Given the description of an element on the screen output the (x, y) to click on. 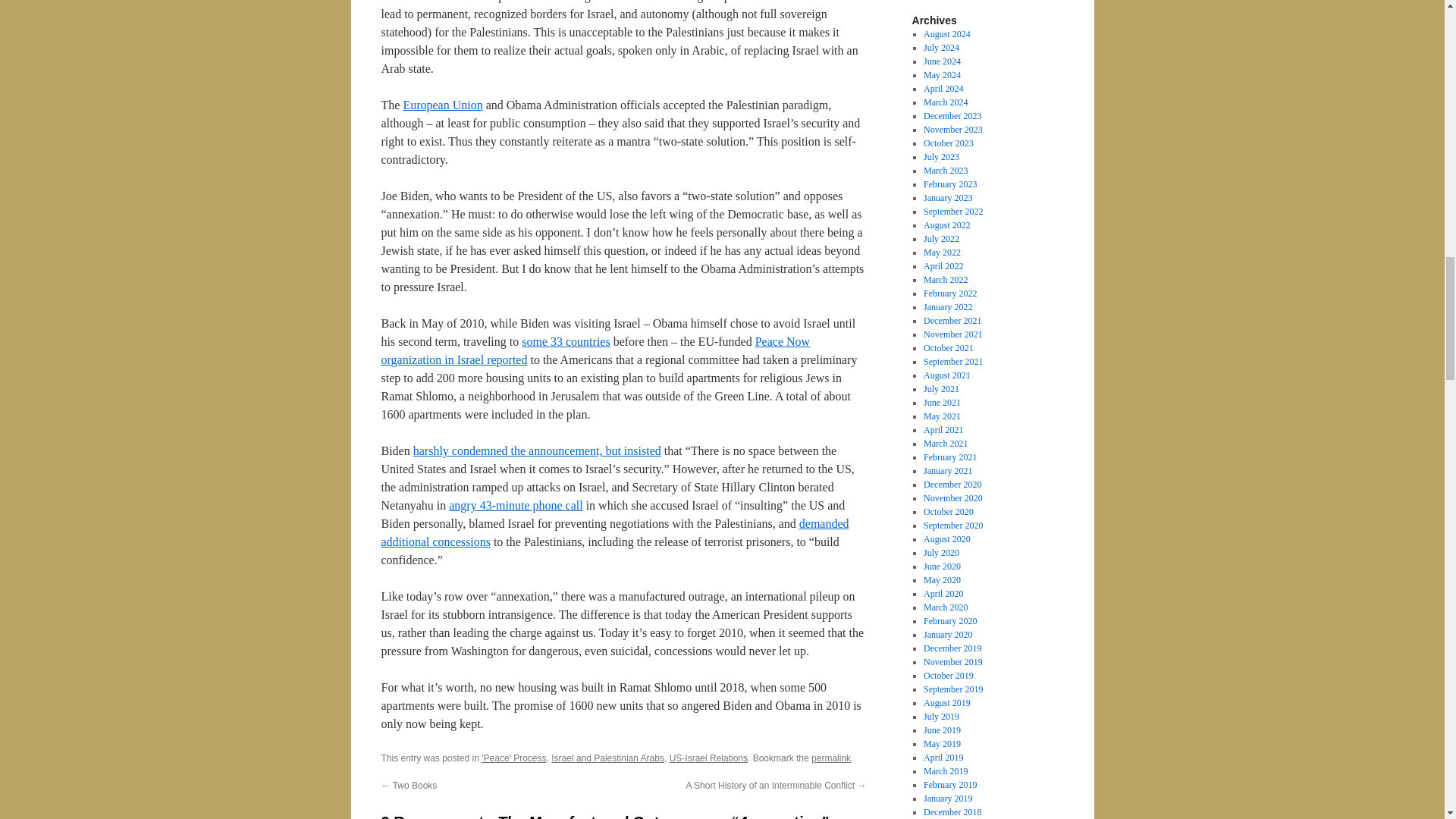
Israel and Palestinian Arabs (607, 757)
US-Israel Relations (708, 757)
European Union (442, 104)
Peace Now organization in Israel reported (594, 350)
harshly condemned the announcement, but insisted (537, 450)
demanded additional concessions (614, 531)
'Peace' Process (513, 757)
permalink (830, 757)
some 33 countries (565, 341)
angry 43-minute phone call (515, 504)
